Given the description of an element on the screen output the (x, y) to click on. 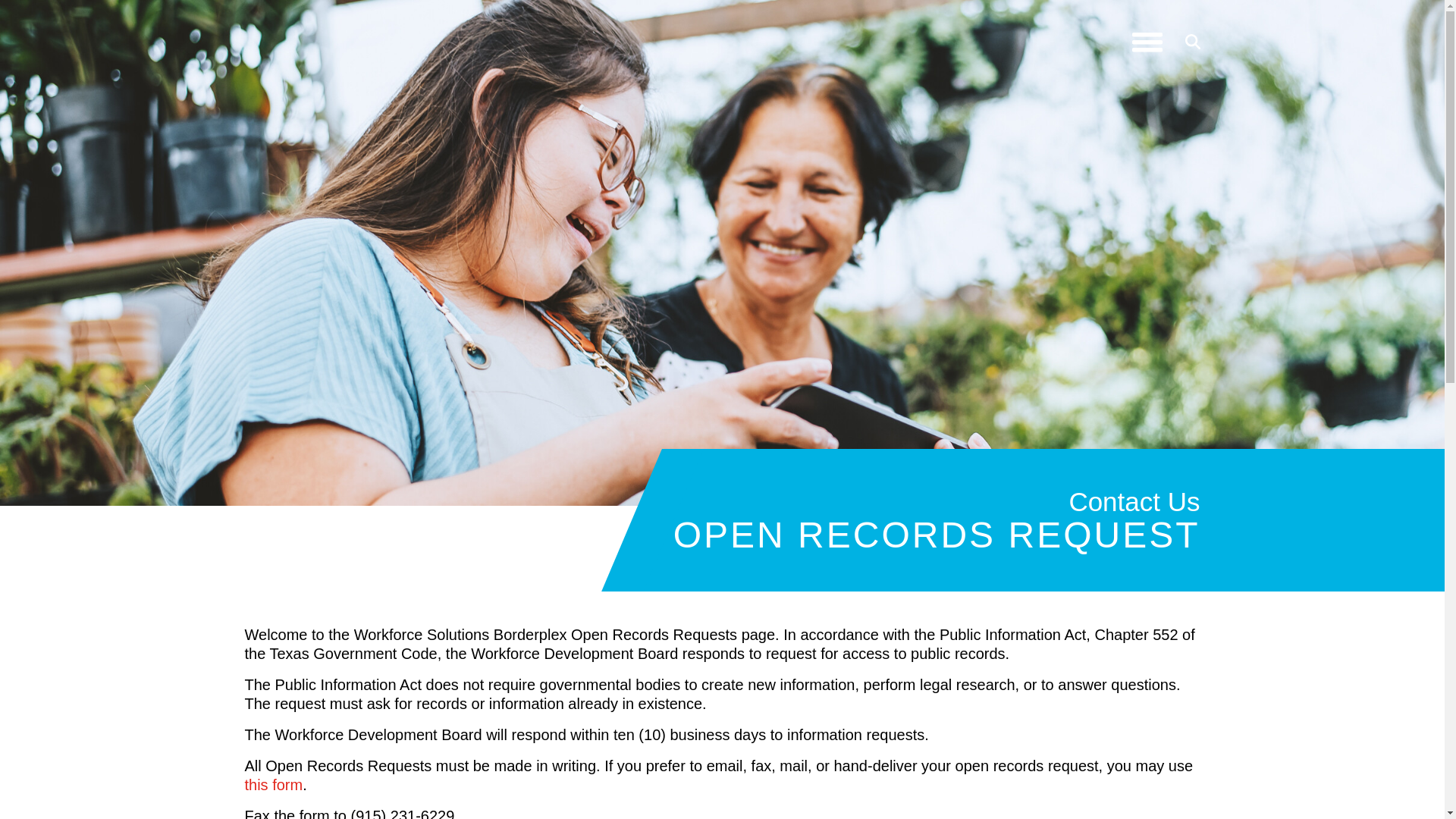
translation missing: en.menu (1146, 42)
